Given the description of an element on the screen output the (x, y) to click on. 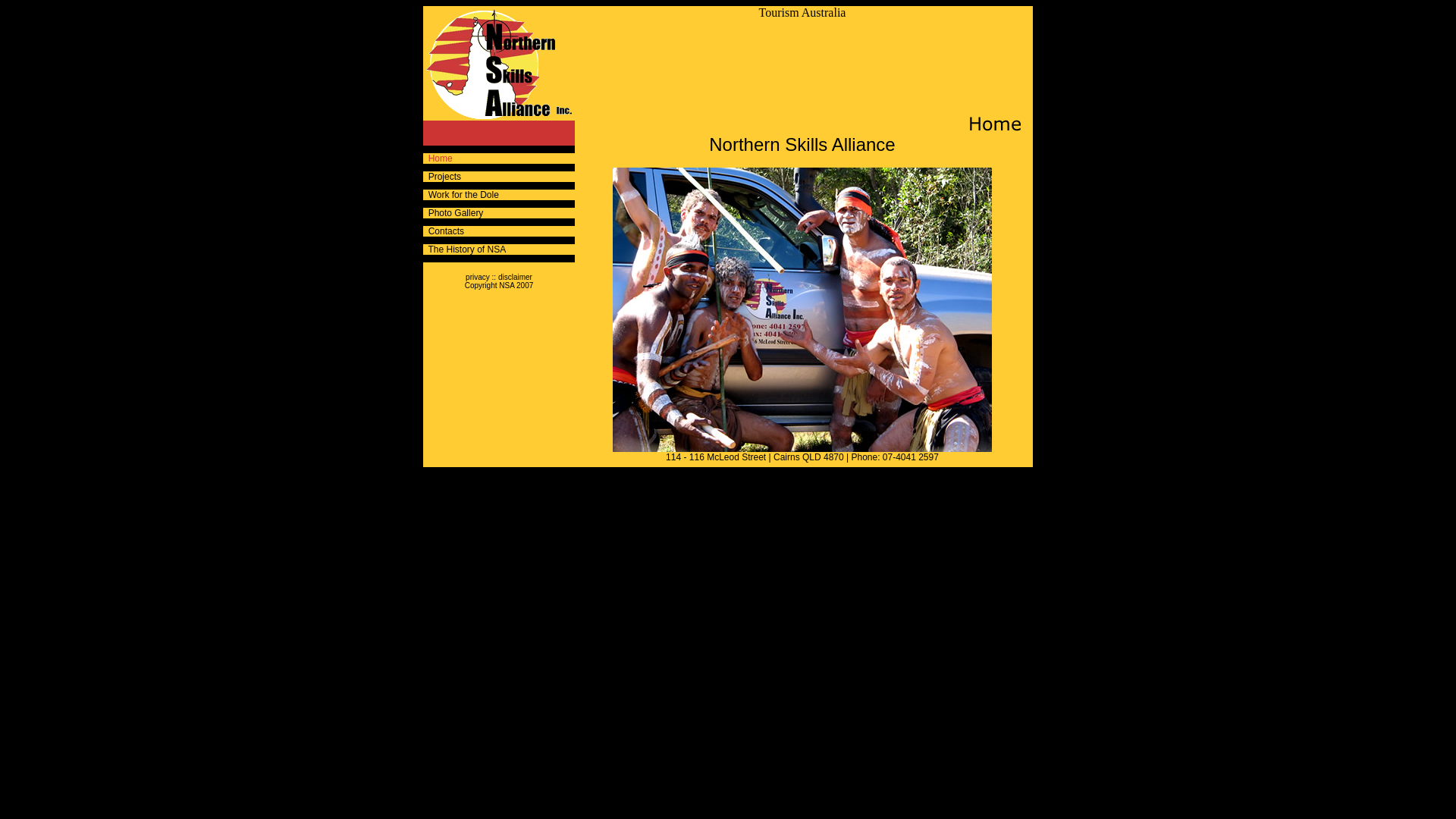
  Work for the Dole Element type: text (460, 194)
disclaimer Element type: text (515, 277)
  Projects Element type: text (442, 175)
Tourism Australia Element type: text (802, 12)
  Photo Gallery Element type: text (453, 212)
  The History of NSA Element type: text (464, 249)
privacy Element type: text (477, 277)
  Contacts Element type: text (443, 230)
